Given the description of an element on the screen output the (x, y) to click on. 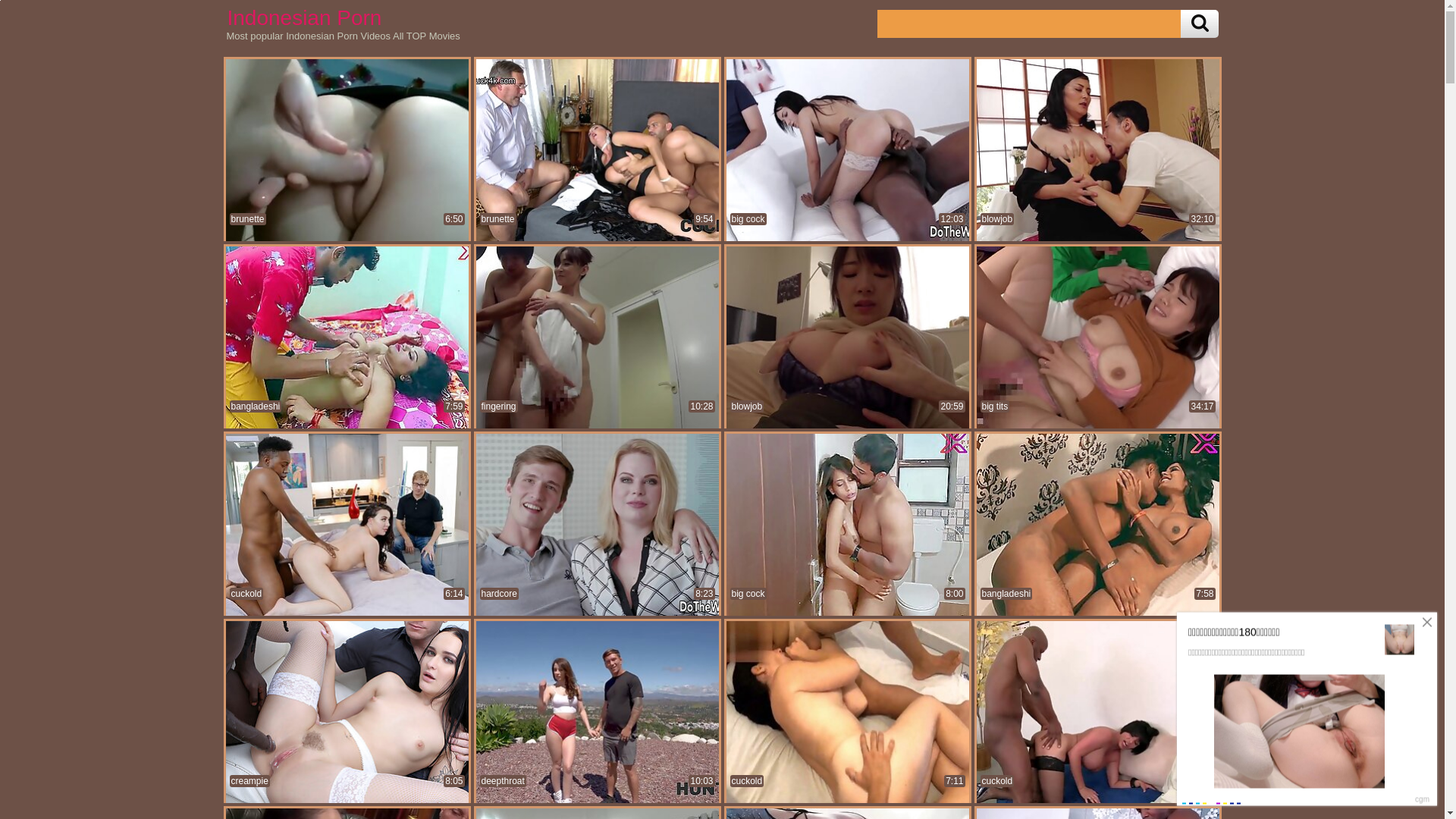
Indonesian Porn Element type: text (303, 17)
